Given the description of an element on the screen output the (x, y) to click on. 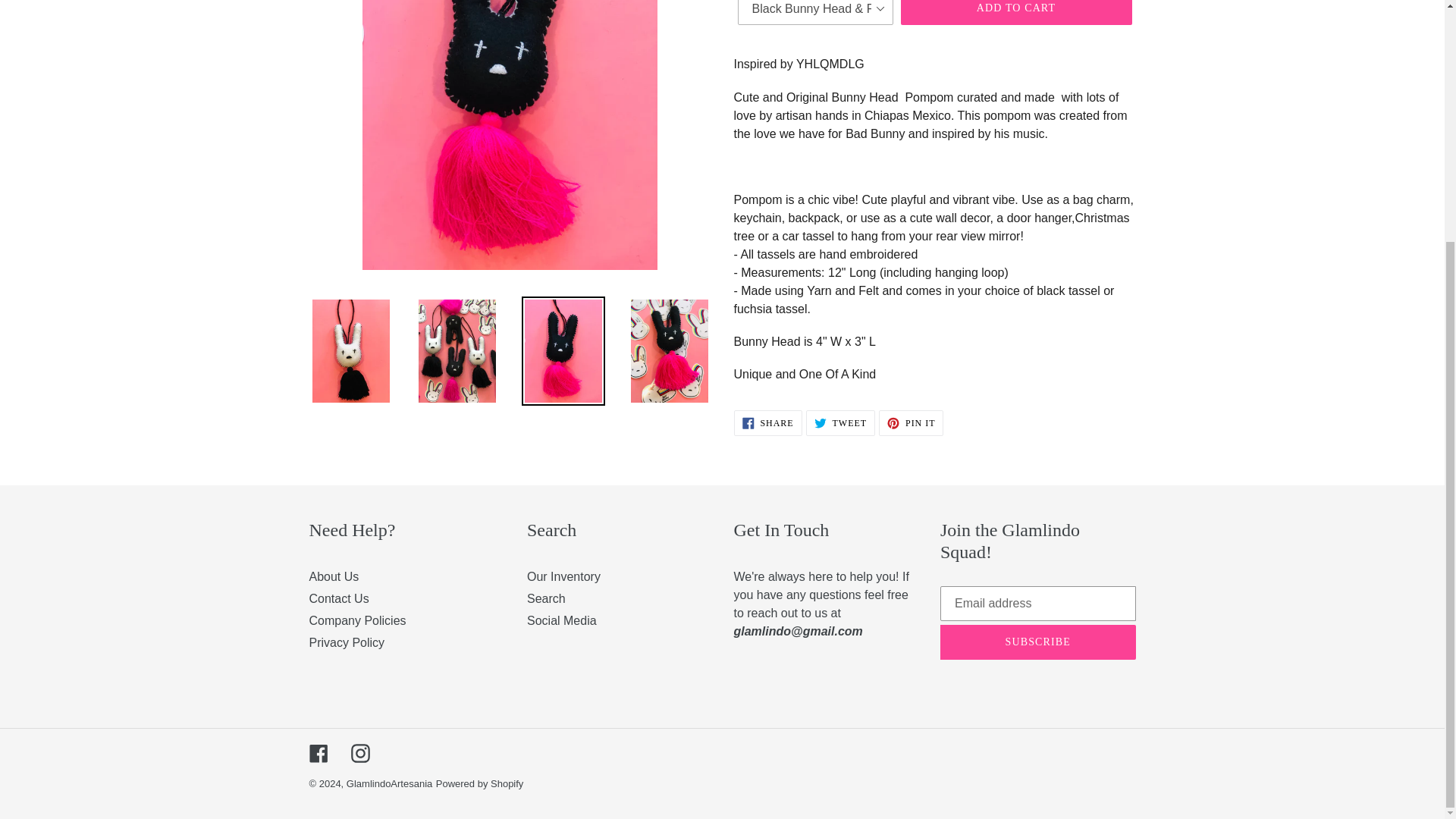
Contact Us (338, 598)
About Us (333, 576)
Company Policies (357, 620)
ADD TO CART (840, 422)
